Given the description of an element on the screen output the (x, y) to click on. 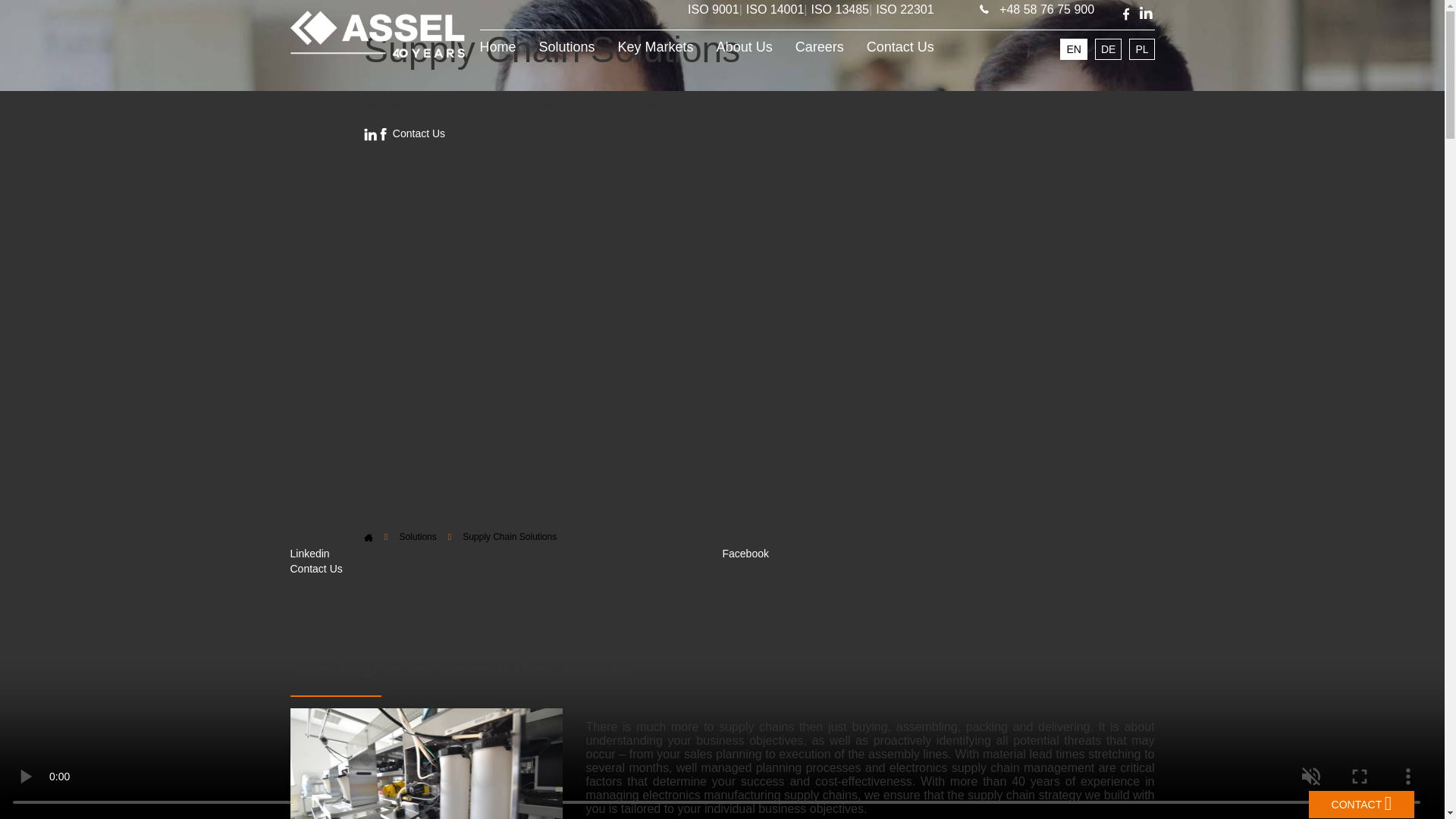
DE (1107, 48)
Solutions (566, 46)
A model for you (331, 185)
SCM Execution (330, 243)
Introduction (321, 165)
Key Markets (655, 46)
Contact Us (900, 46)
Careers (819, 46)
EN (1072, 48)
Automation (319, 205)
